Given the description of an element on the screen output the (x, y) to click on. 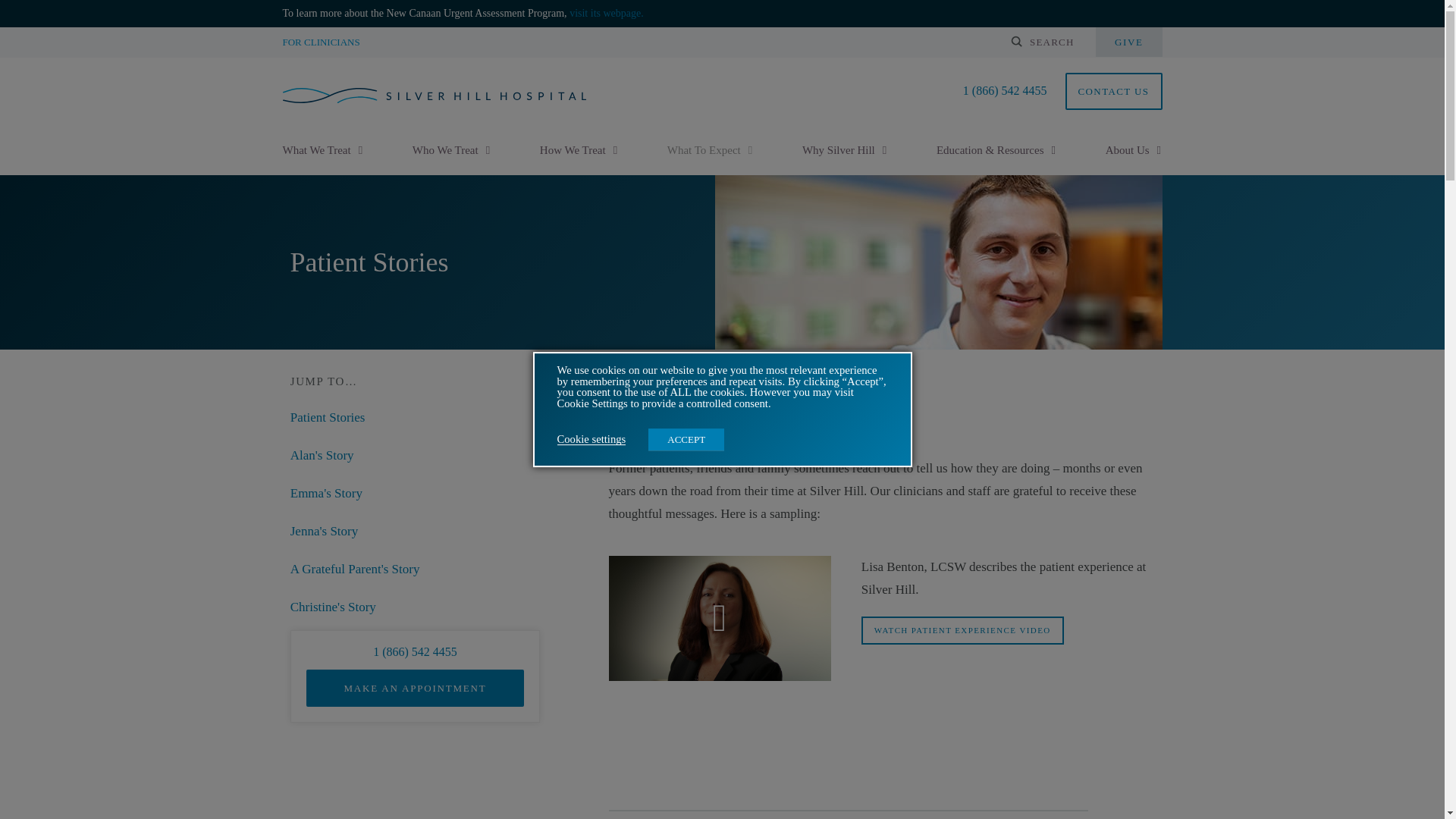
Who We Treat (445, 150)
GIVE (1128, 41)
visit its webpage. (606, 13)
What We Treat (316, 150)
CONTACT US (1113, 90)
How We Treat (572, 150)
FOR CLINICIANS (320, 41)
SEARCH (1051, 41)
